Given the description of an element on the screen output the (x, y) to click on. 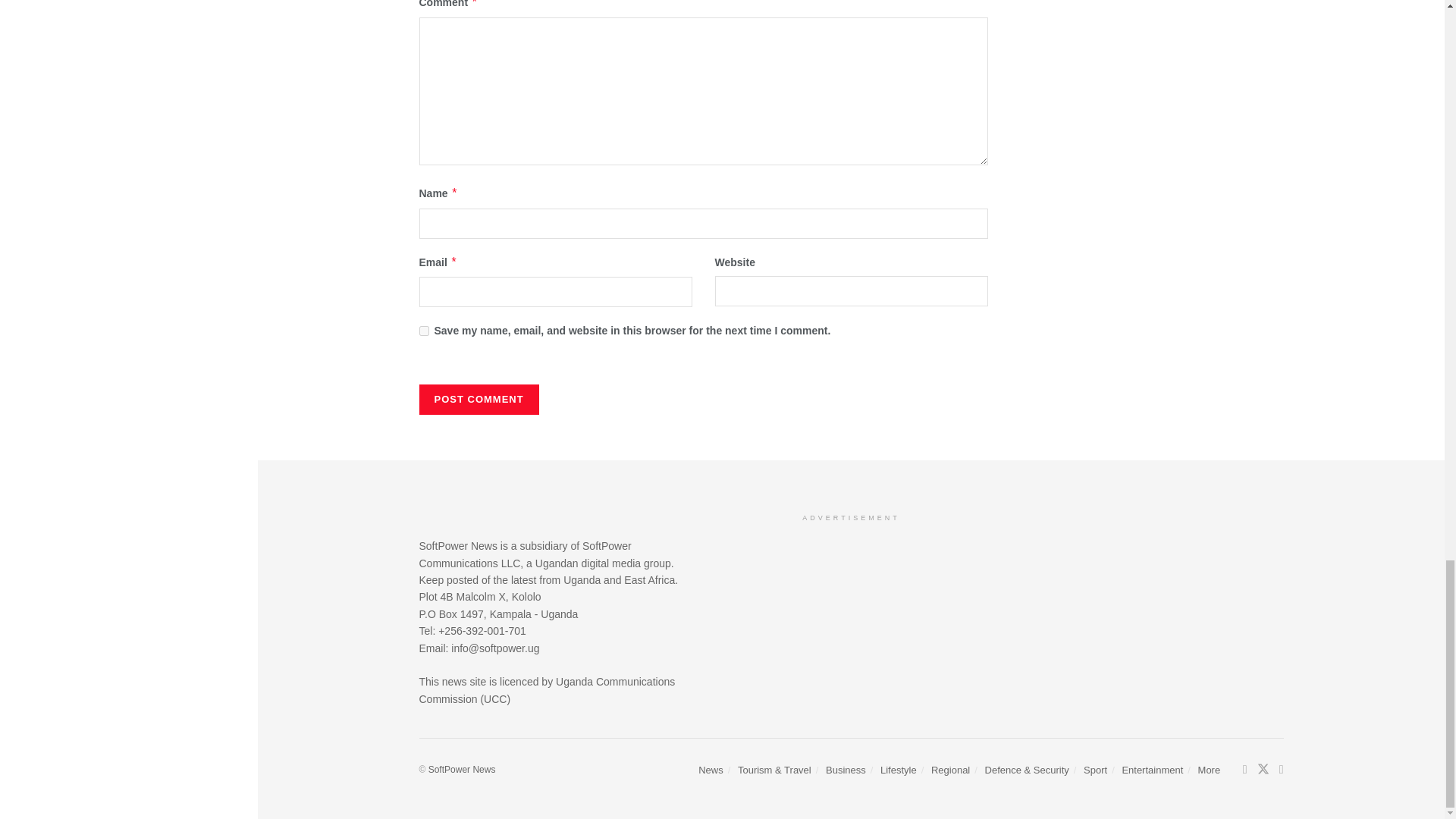
SoftPower News (462, 769)
yes (423, 330)
Post Comment (478, 399)
